Given the description of an element on the screen output the (x, y) to click on. 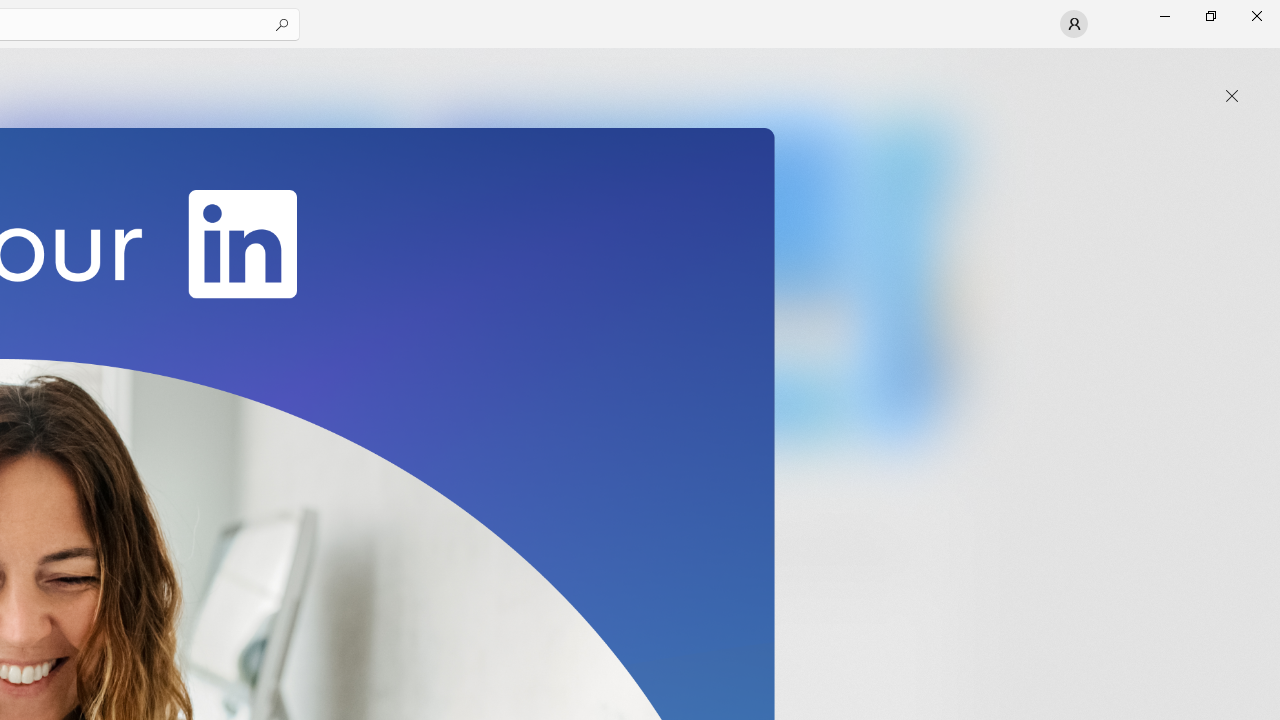
Screenshot 3 (636, 279)
Screenshot 4 (912, 279)
close popup window (1232, 95)
See all (924, 72)
